Given the description of an element on the screen output the (x, y) to click on. 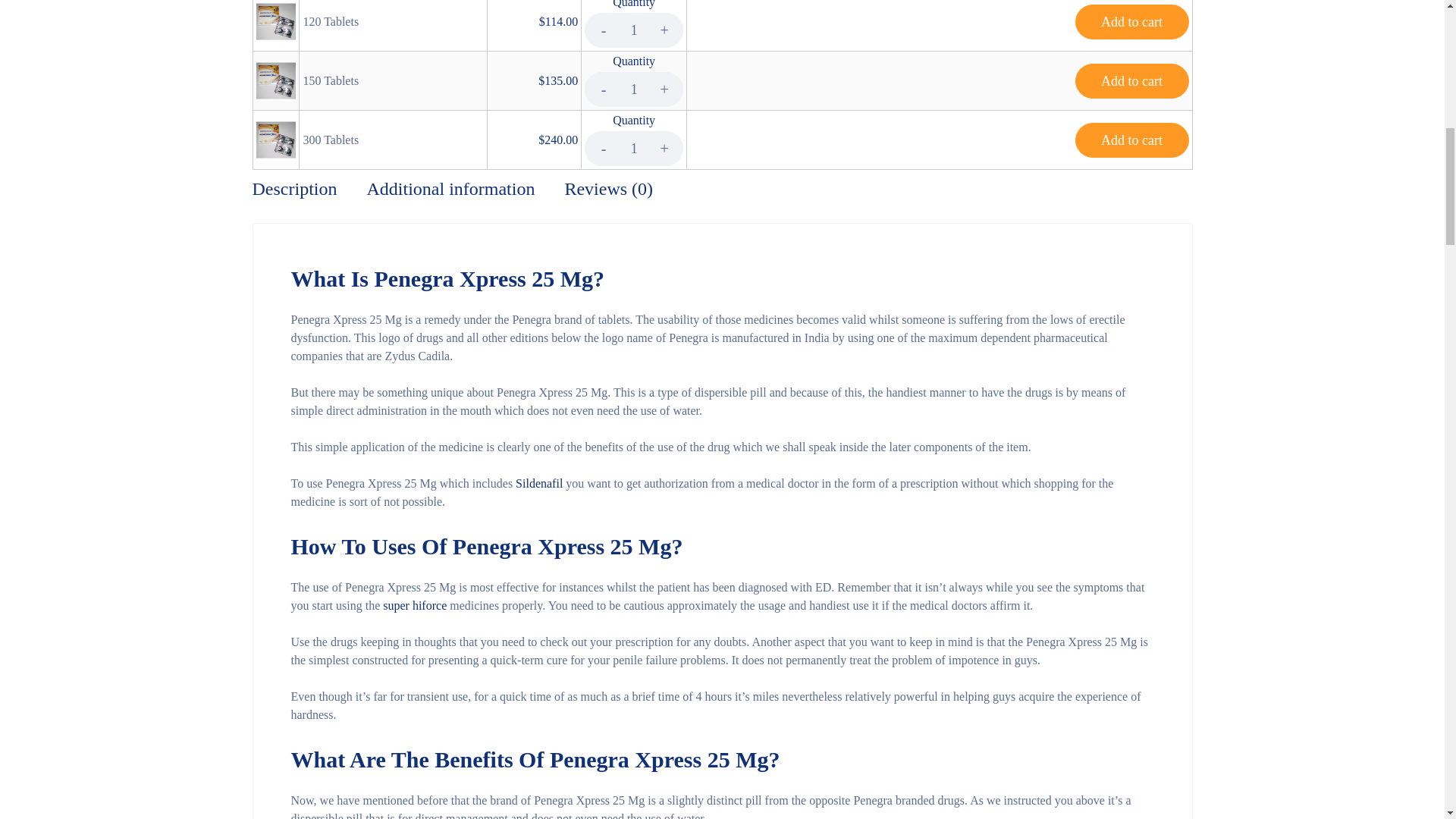
- (604, 30)
1 (633, 89)
- (604, 148)
1 (633, 30)
1 (633, 148)
- (604, 89)
